Given the description of an element on the screen output the (x, y) to click on. 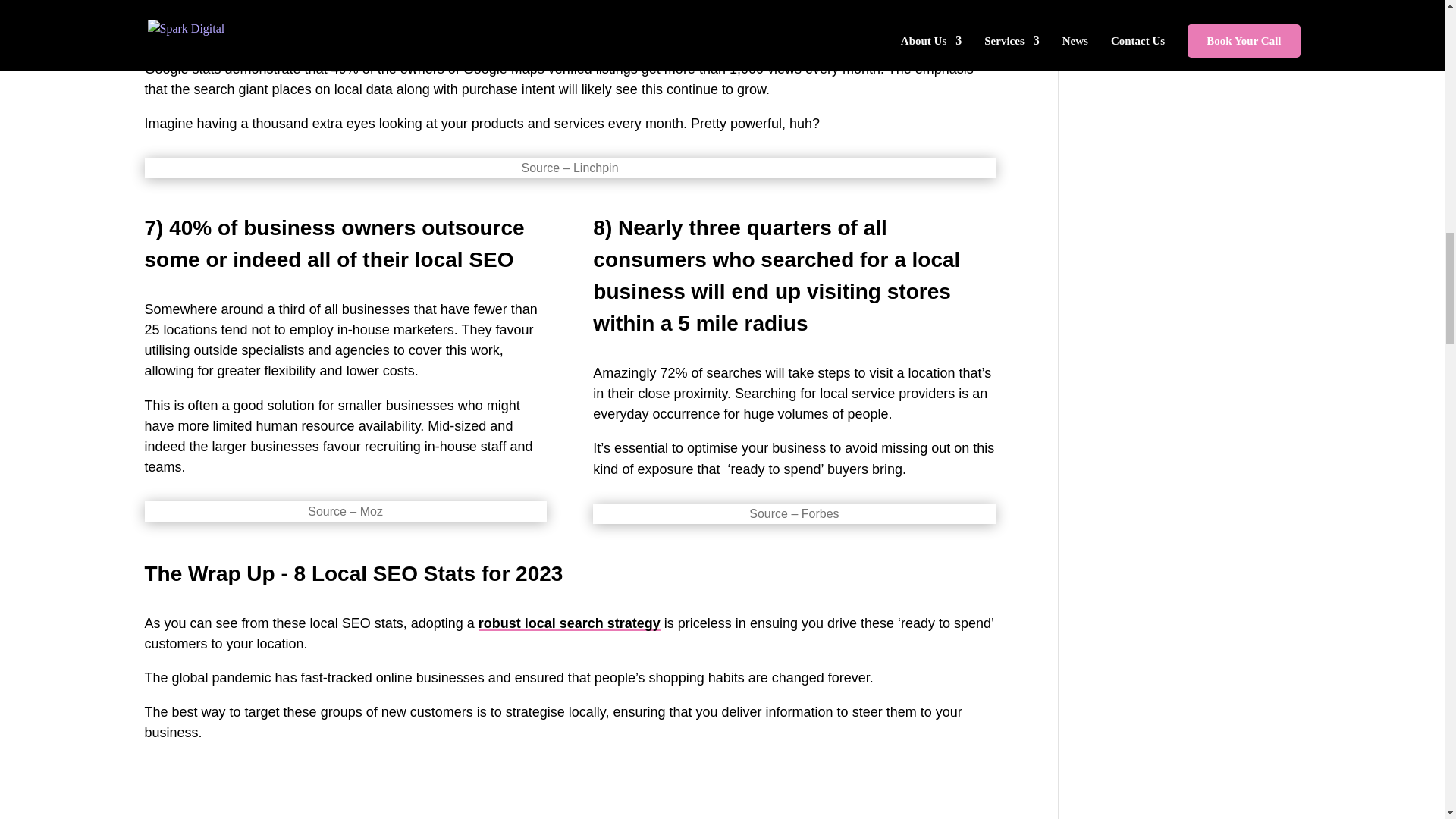
robust local search strategy (570, 622)
Local SEO for 2023 (570, 622)
